Given the description of an element on the screen output the (x, y) to click on. 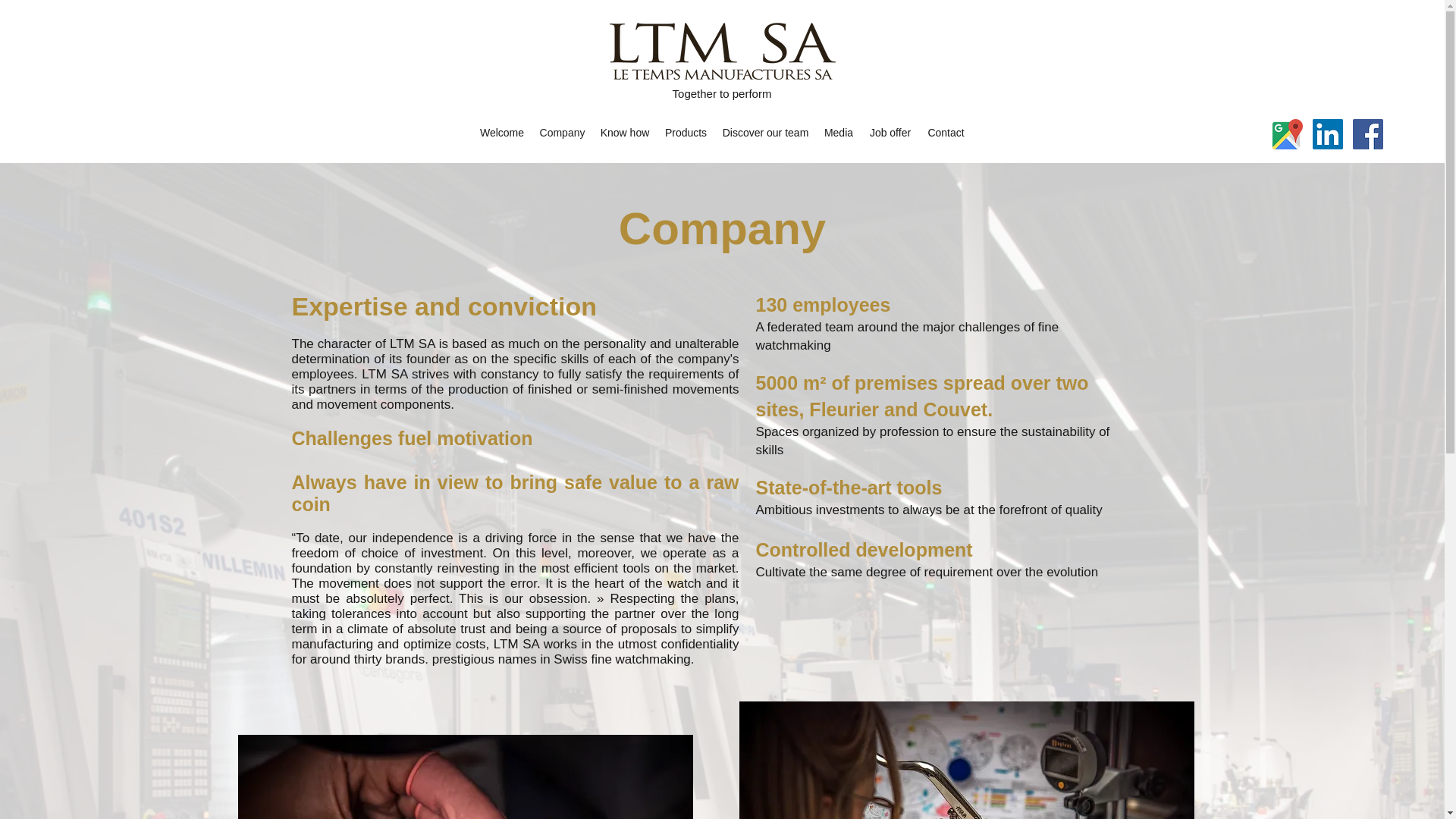
Discover our team (764, 132)
LTM HD-15.jpg (965, 760)
Job offer (890, 132)
LTM HD-2.jpg (465, 776)
Company (562, 132)
Media (837, 132)
Contact (945, 132)
Products (685, 132)
Know how (625, 132)
Welcome (501, 132)
